Given the description of an element on the screen output the (x, y) to click on. 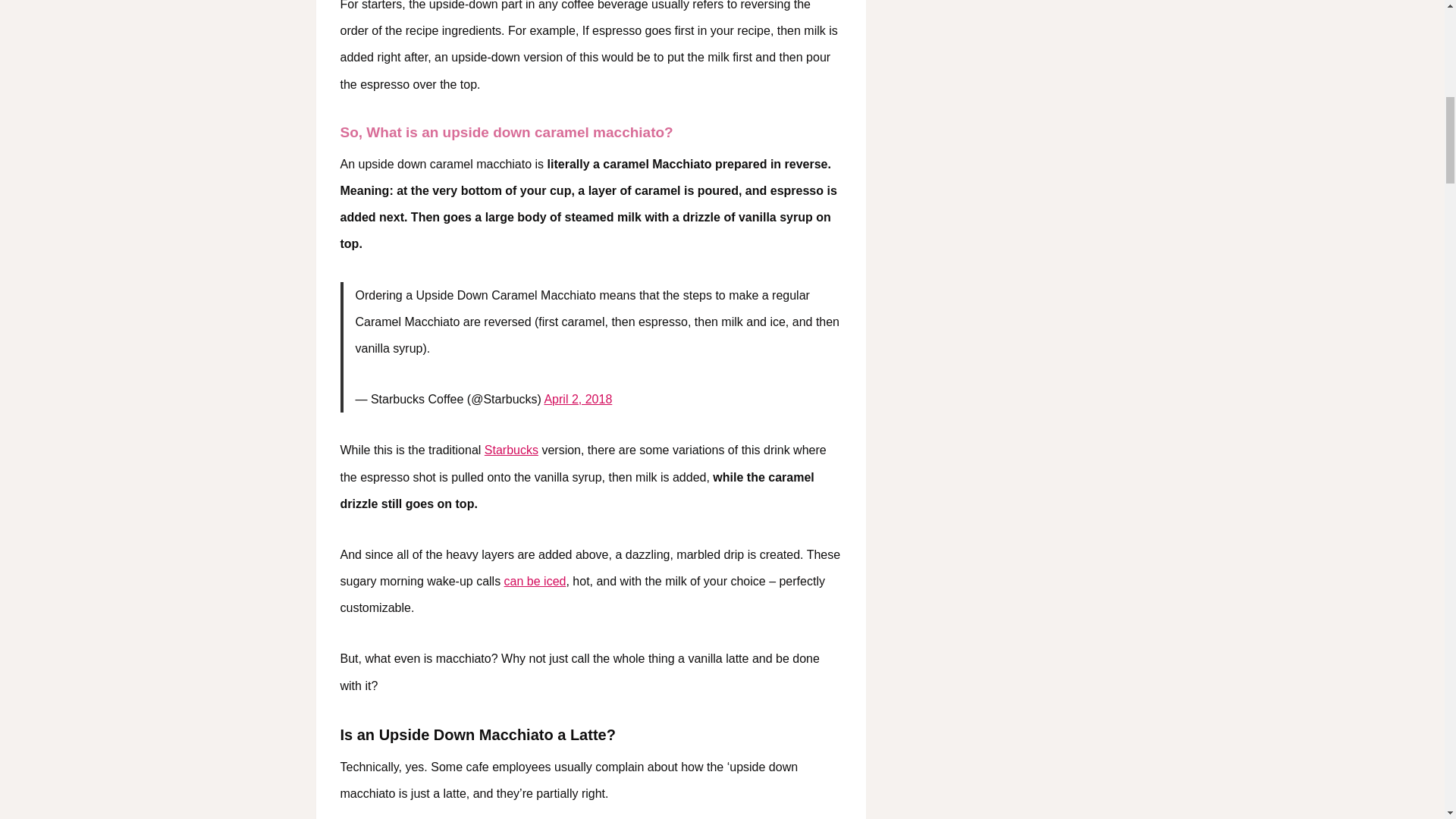
April 2, 2018 (577, 399)
Starbucks (511, 449)
can be iced (534, 581)
